Given the description of an element on the screen output the (x, y) to click on. 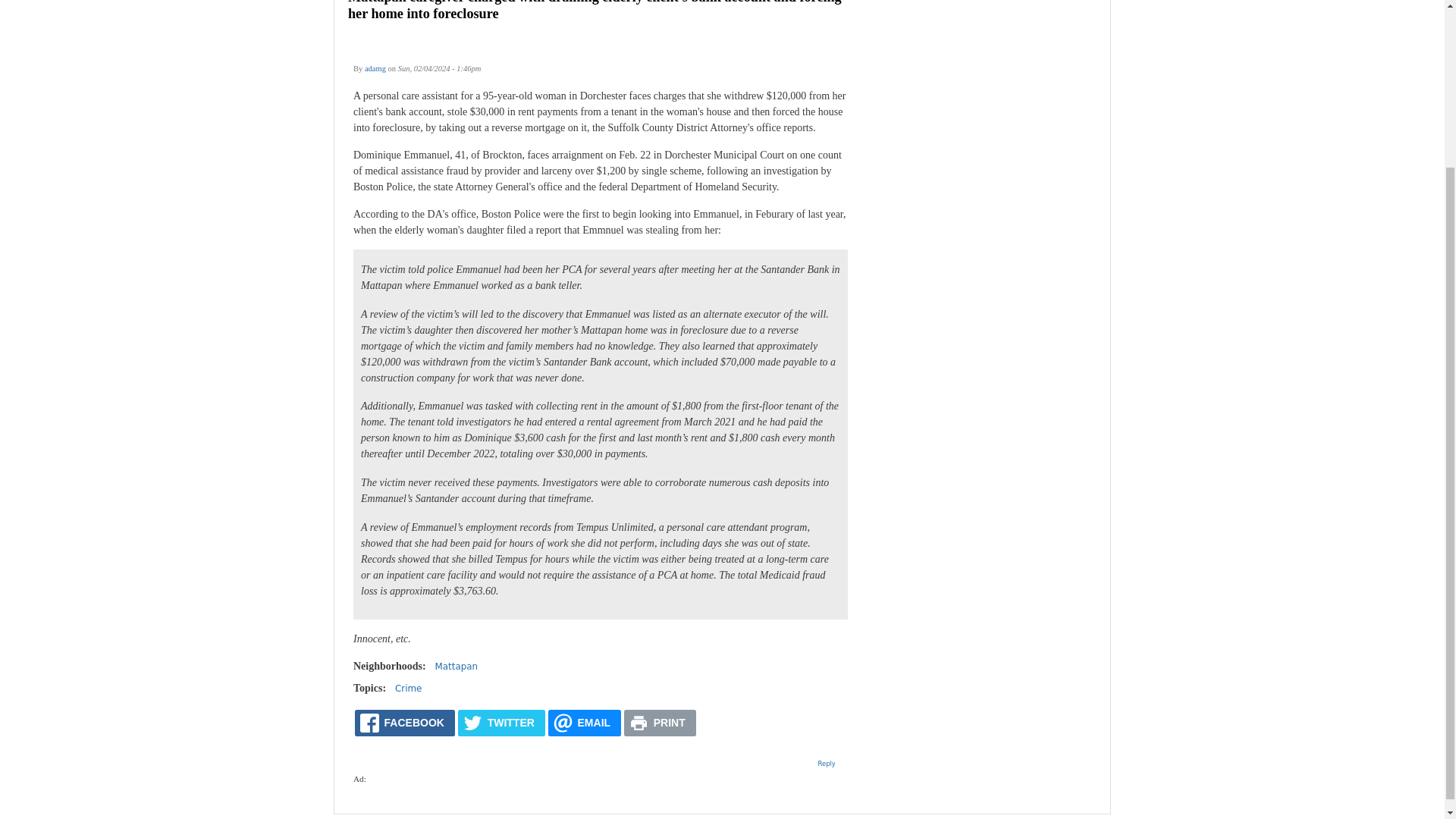
Share your thoughts and opinions related to this posting. (826, 763)
Crime (408, 688)
View user profile. (375, 68)
PRINT (659, 723)
adamg (375, 68)
EMAIL (584, 723)
TWITTER (501, 723)
Mattapan (457, 665)
Reply (826, 763)
FACEBOOK (404, 723)
